Given the description of an element on the screen output the (x, y) to click on. 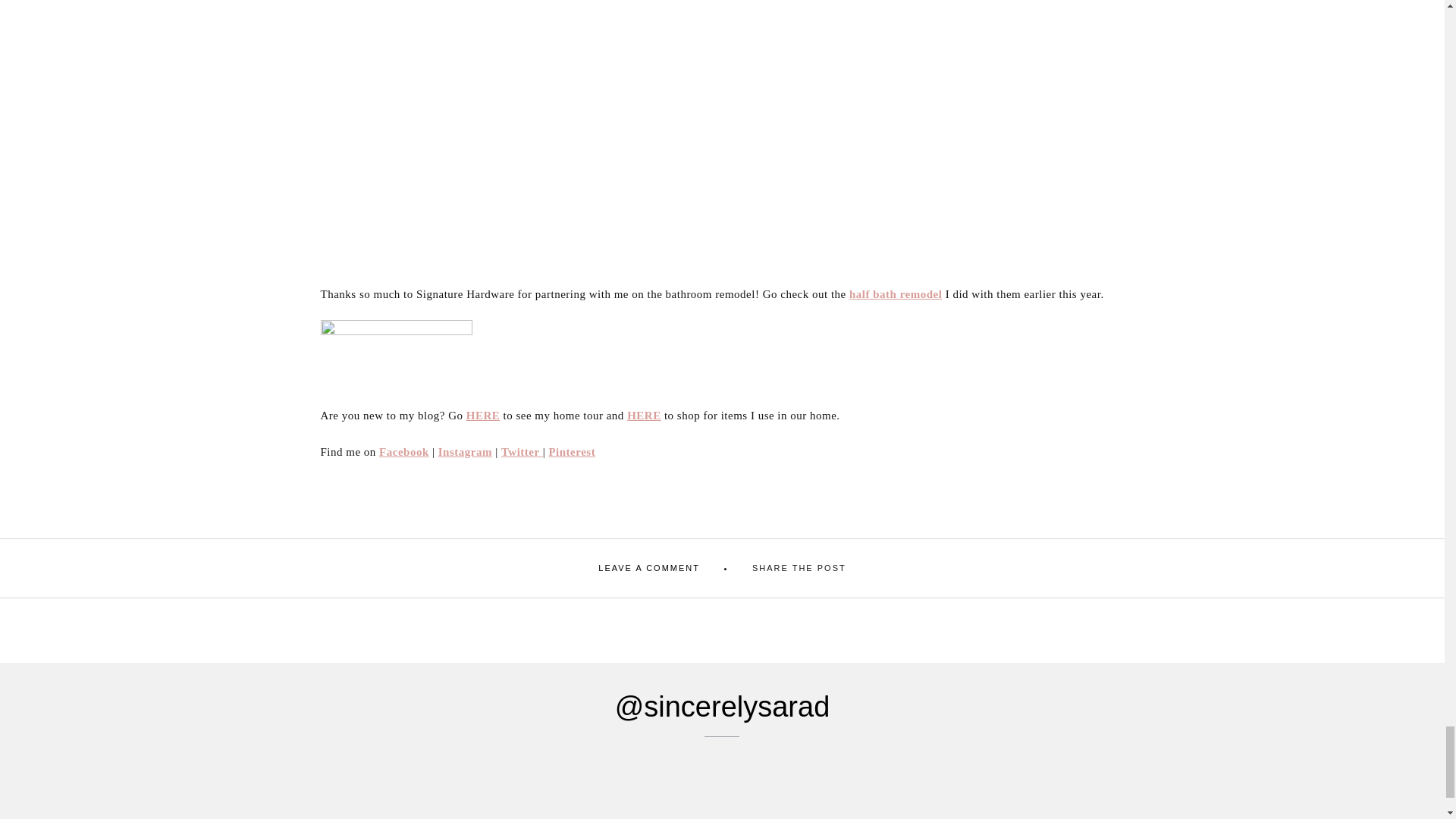
Pinterest (571, 451)
Instagram (465, 451)
LEAVE A COMMENT (649, 567)
Twitter  (521, 451)
half bath remodel (895, 294)
Facebook (403, 451)
HERE (644, 415)
LEAVE A COMMENT (649, 567)
HERE (482, 415)
